Given the description of an element on the screen output the (x, y) to click on. 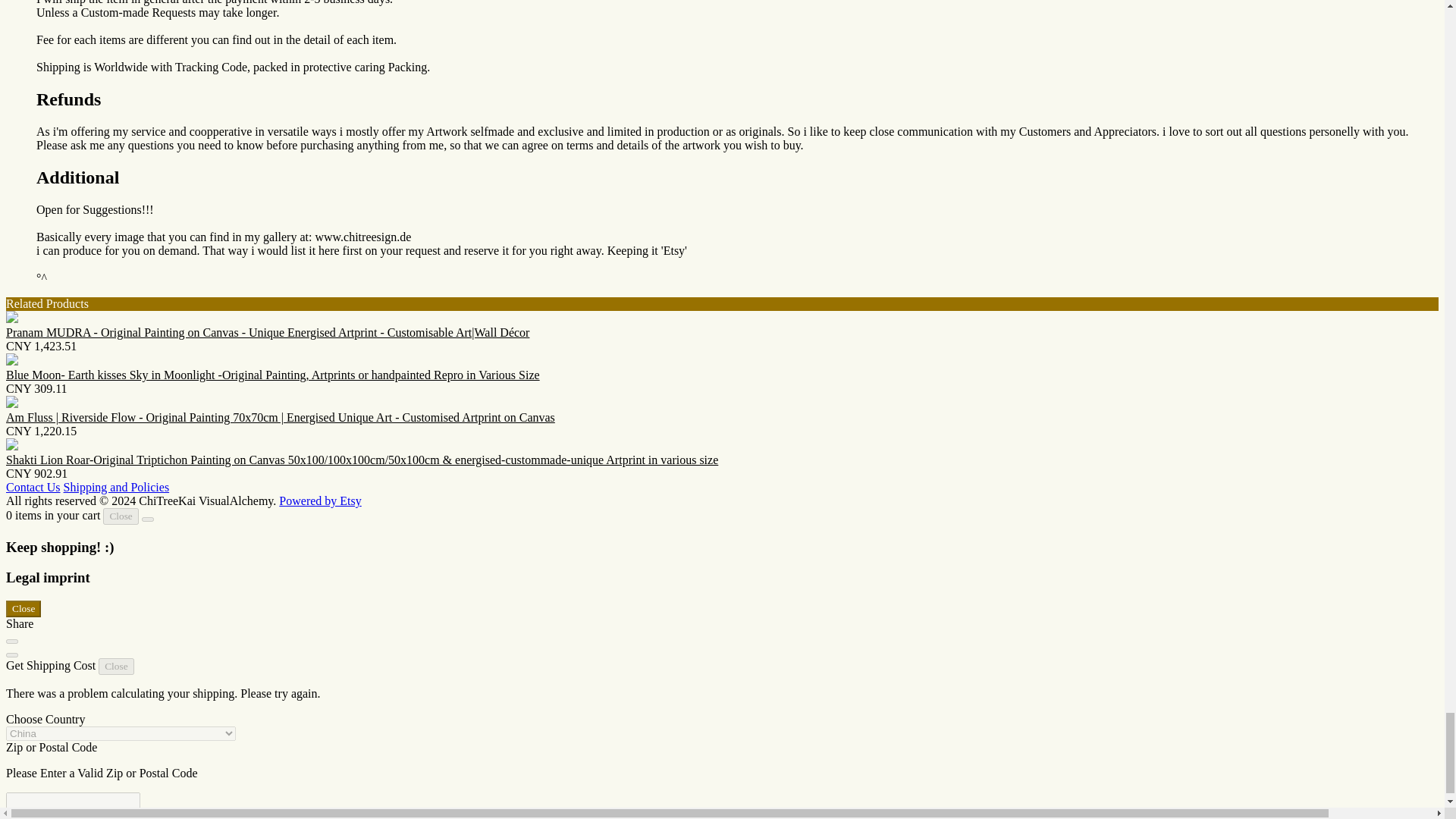
Powered by Etsy (320, 500)
Close (22, 608)
Shipping and Policies (117, 486)
Close (120, 515)
Contact Us (33, 486)
